Given the description of an element on the screen output the (x, y) to click on. 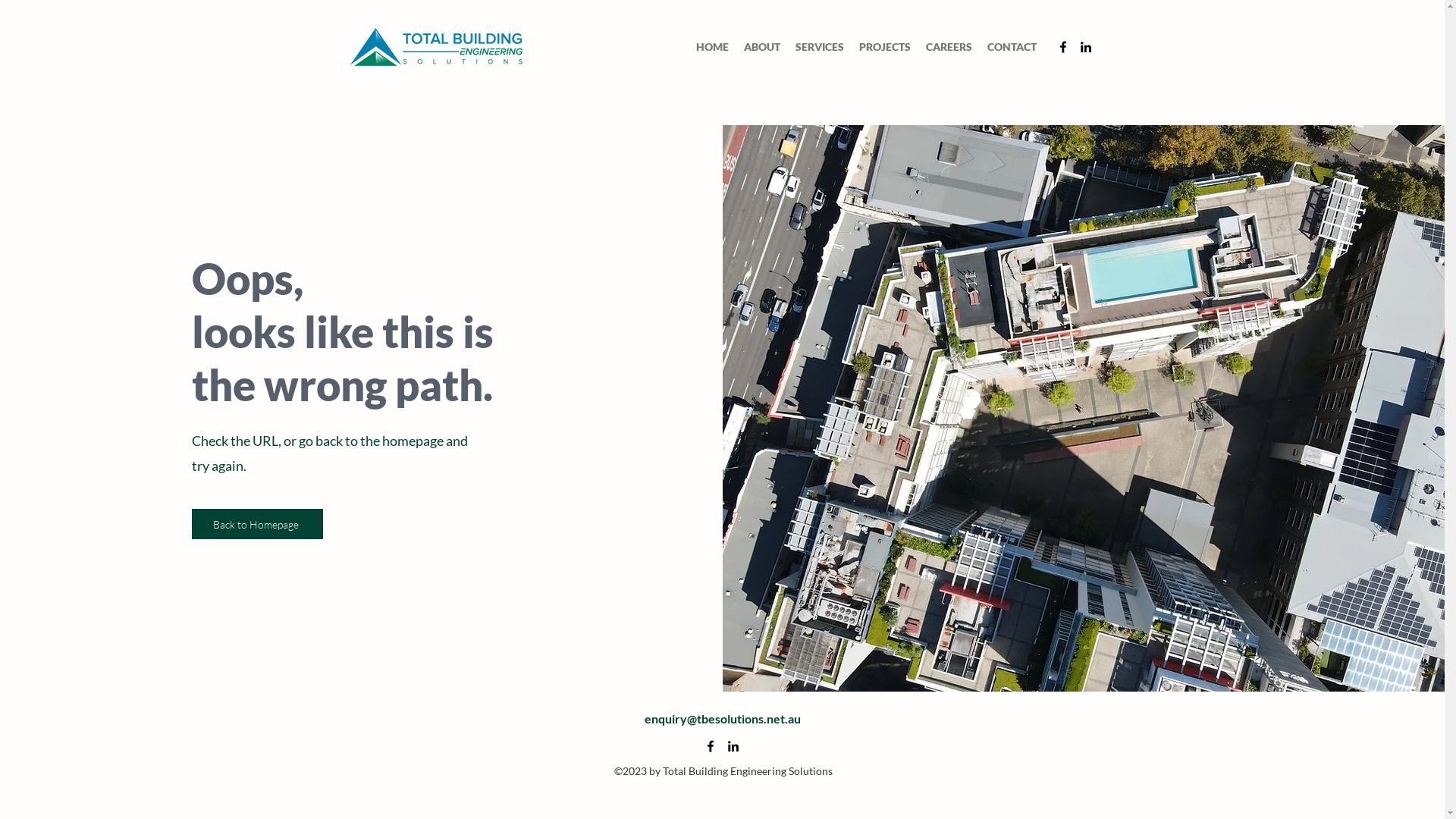
CONTACT Element type: text (1011, 46)
Back to Homepage Element type: text (257, 523)
HOME Element type: text (712, 46)
PROJECTS Element type: text (883, 46)
CAREERS Element type: text (948, 46)
SERVICES Element type: text (818, 46)
enquiry@tbesolutions.net.au Element type: text (722, 718)
ABOUT Element type: text (761, 46)
